Given the description of an element on the screen output the (x, y) to click on. 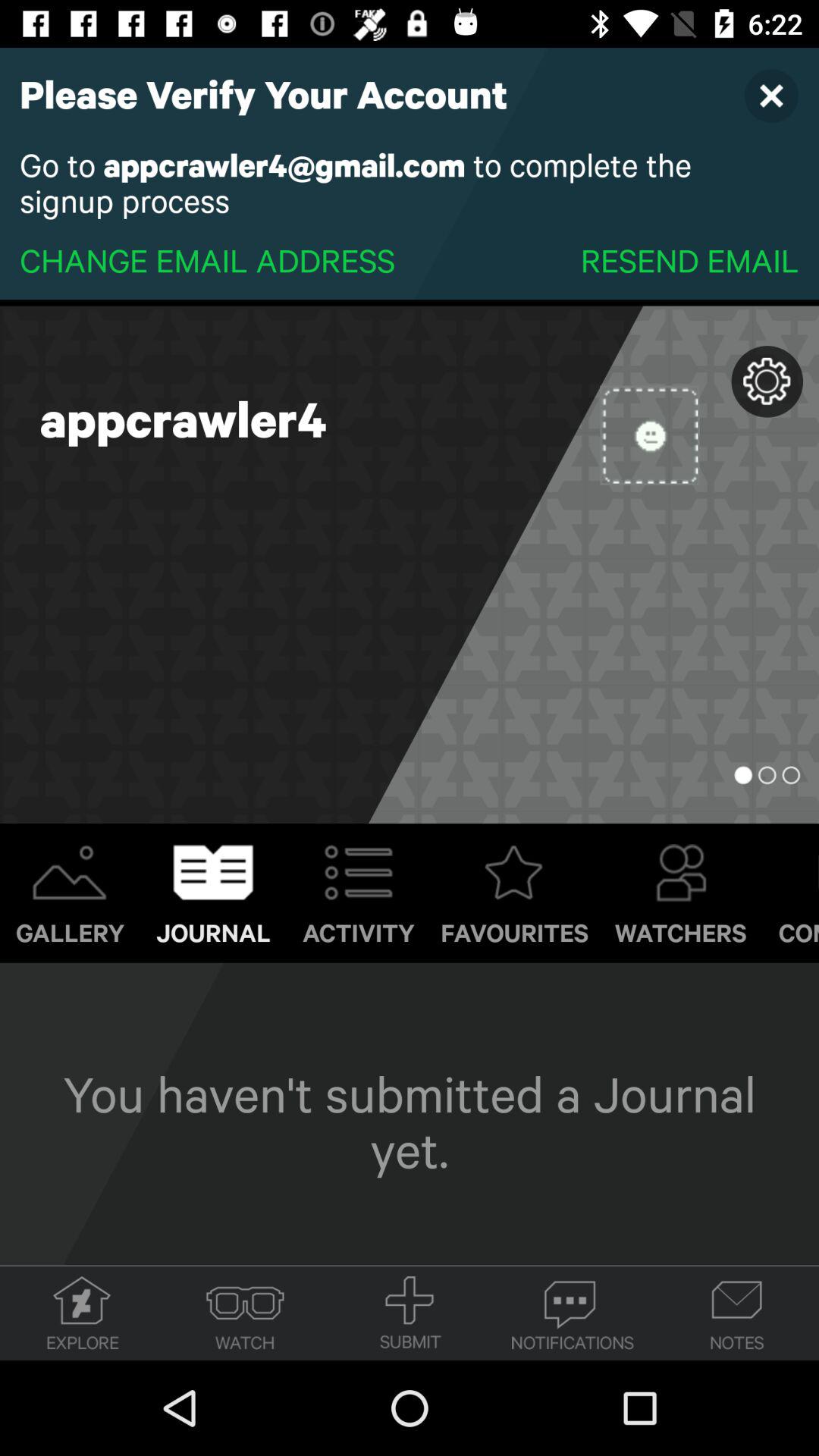
tap item to the right of change email address icon (689, 259)
